Given the description of an element on the screen output the (x, y) to click on. 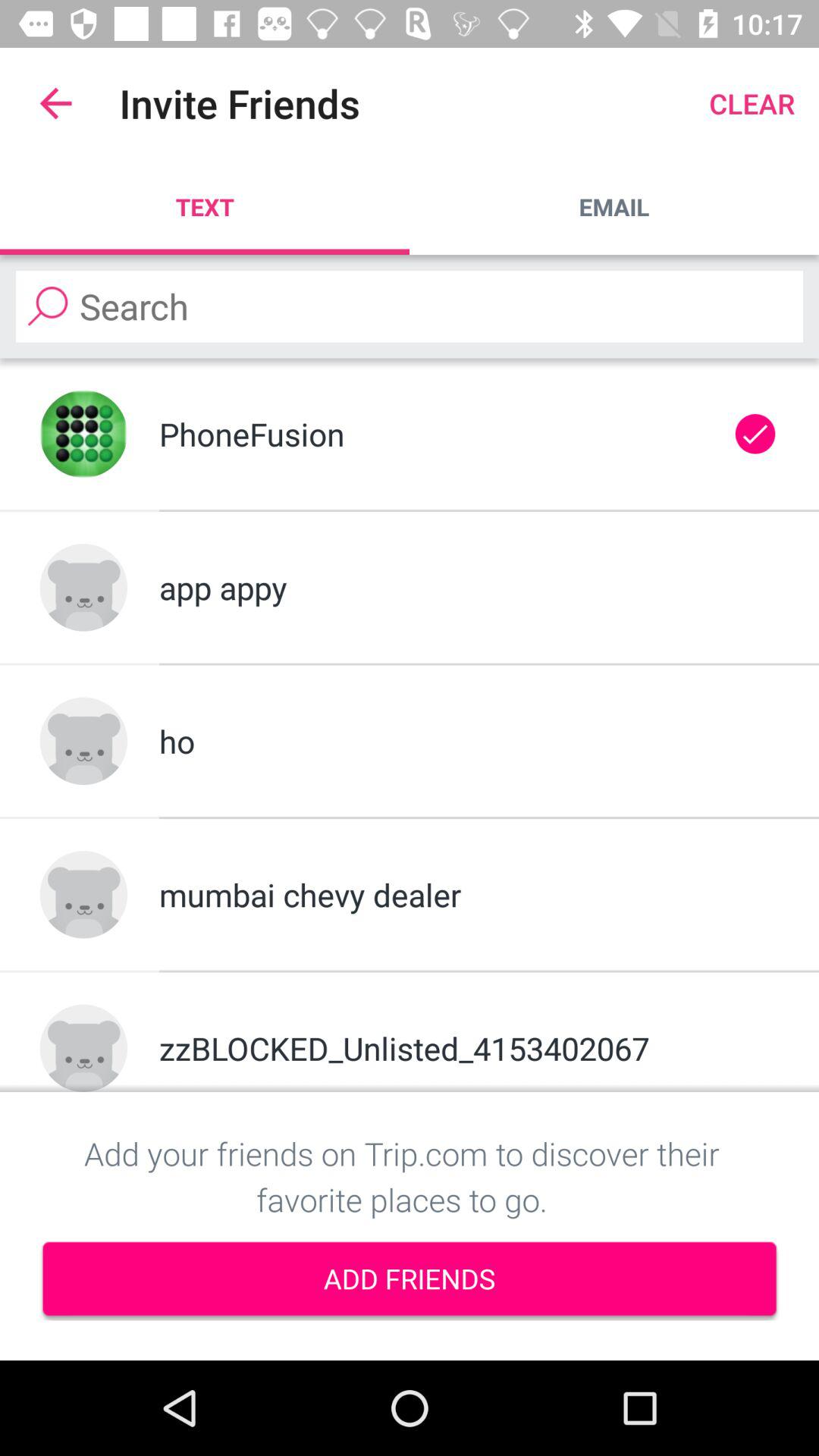
tap icon below the mumbai chevy dealer item (469, 1048)
